Given the description of an element on the screen output the (x, y) to click on. 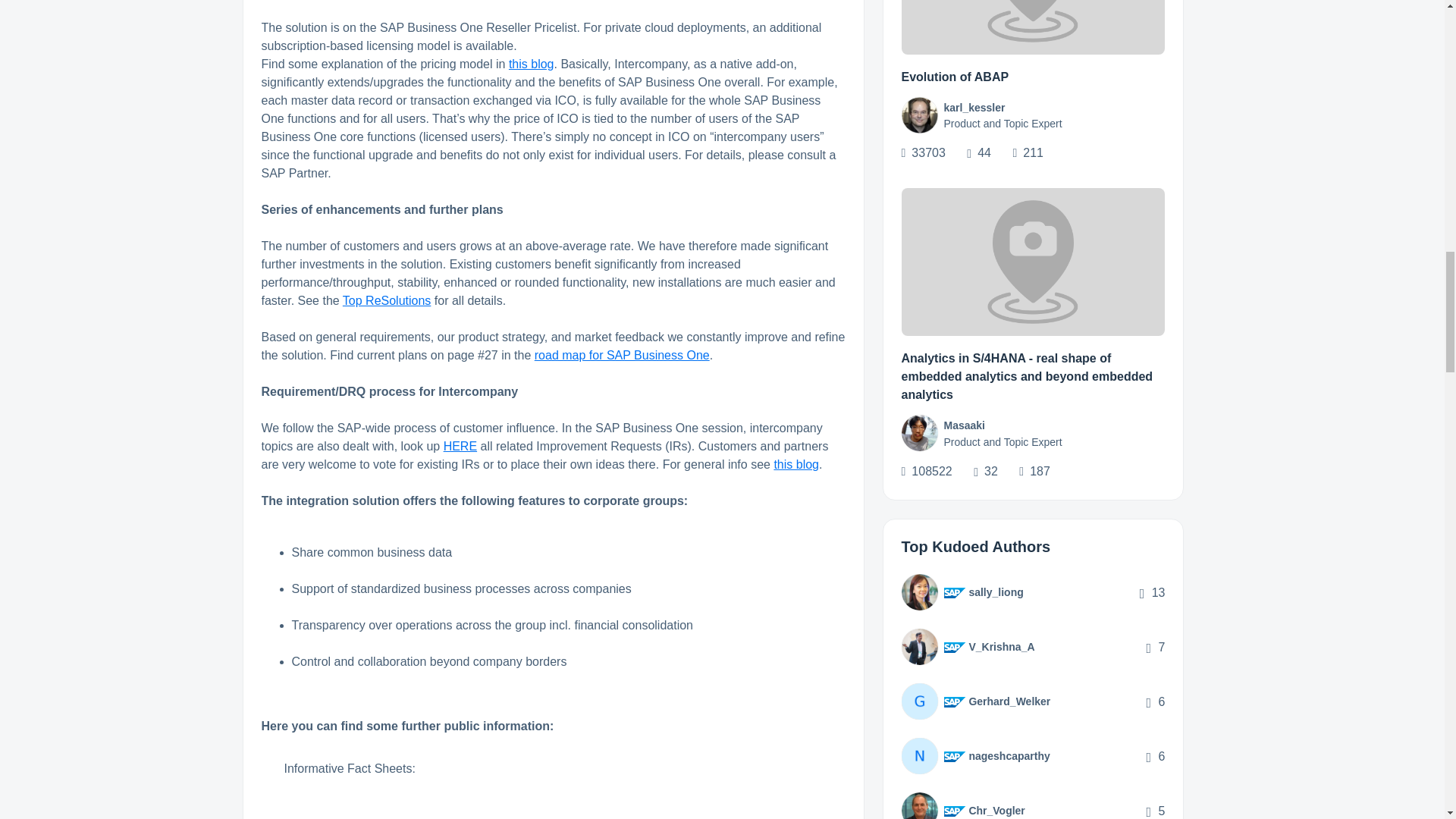
Top ReSolutions (386, 300)
this blog (795, 463)
road map for SAP Business One (622, 354)
HERE (460, 445)
this blog (531, 63)
